Given the description of an element on the screen output the (x, y) to click on. 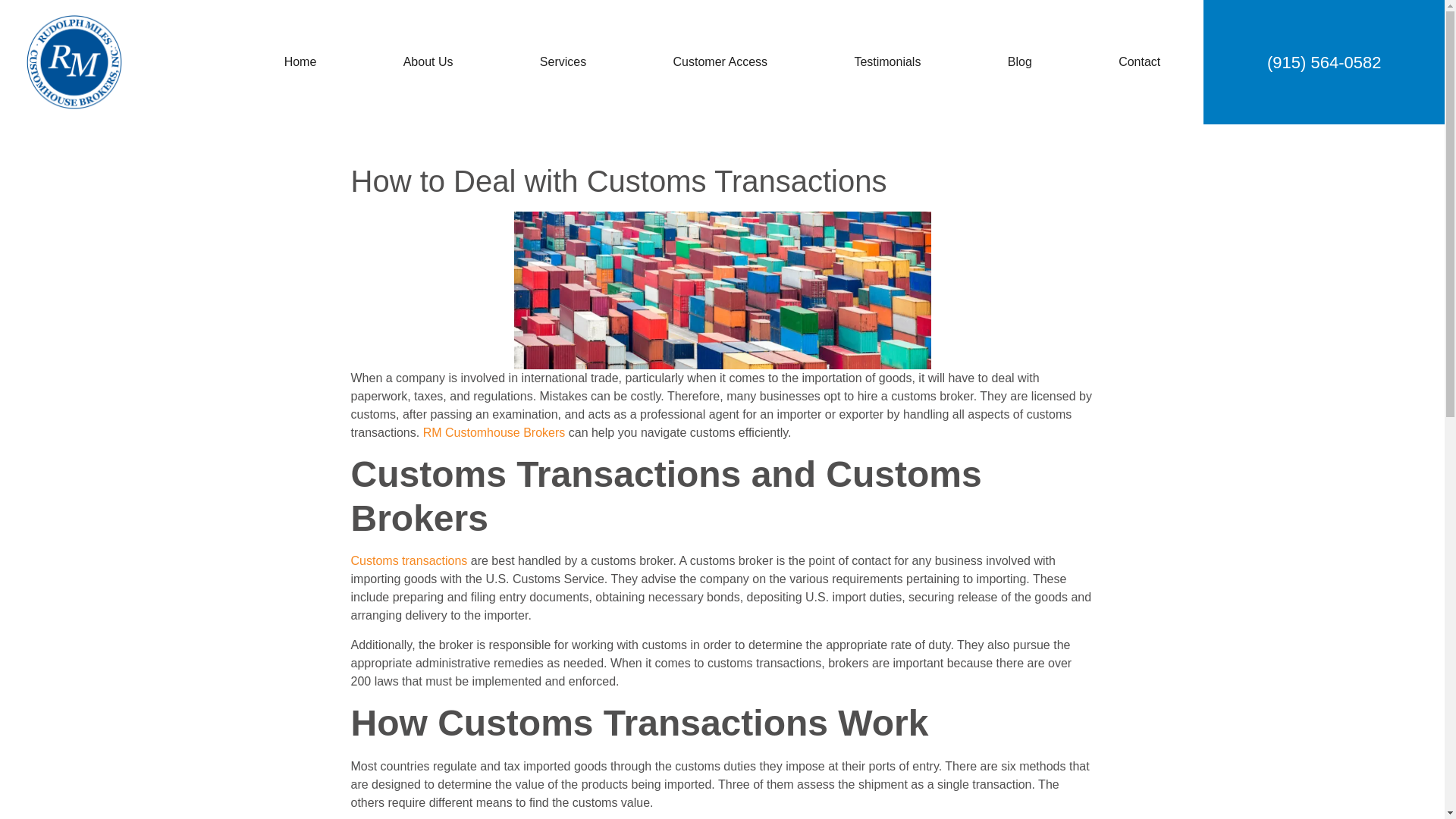
About Us (427, 62)
Customer Access (719, 62)
Blog (1019, 62)
Contact (1139, 62)
Services (563, 62)
Testimonials (886, 62)
Home (299, 62)
RM Customhouse Brokers (494, 431)
Customs transactions (408, 560)
